Given the description of an element on the screen output the (x, y) to click on. 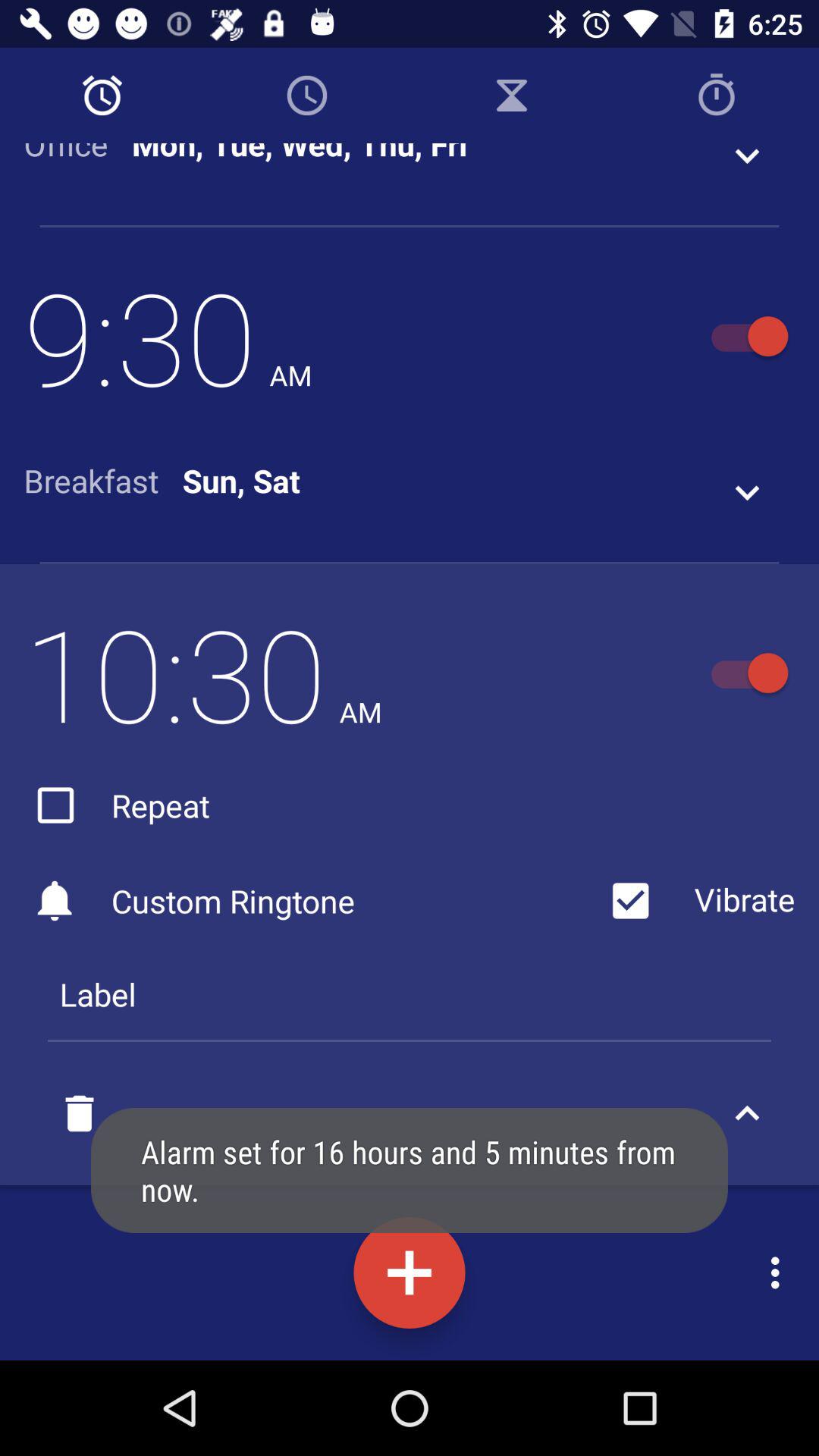
tap icon to the right of the office   icon (299, 154)
